Given the description of an element on the screen output the (x, y) to click on. 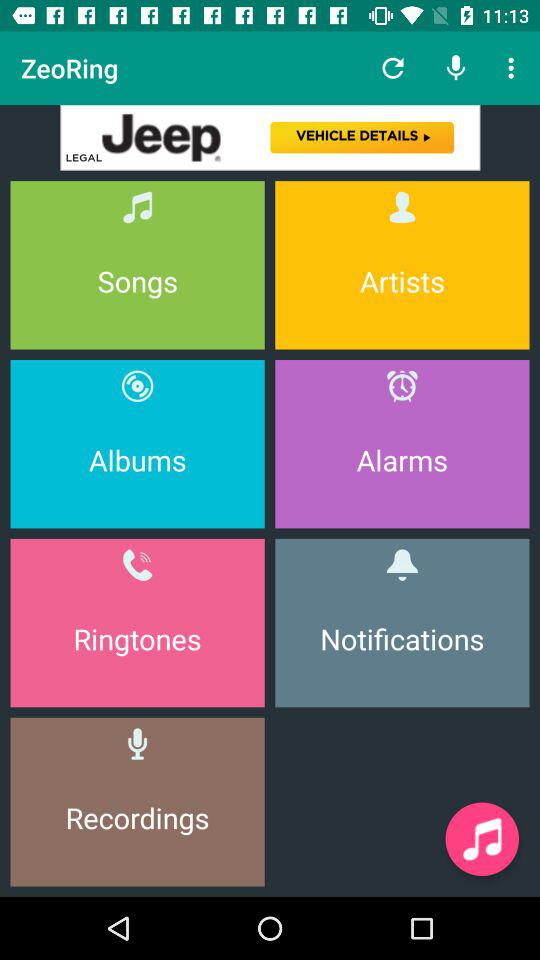
vehicle details (270, 137)
